Given the description of an element on the screen output the (x, y) to click on. 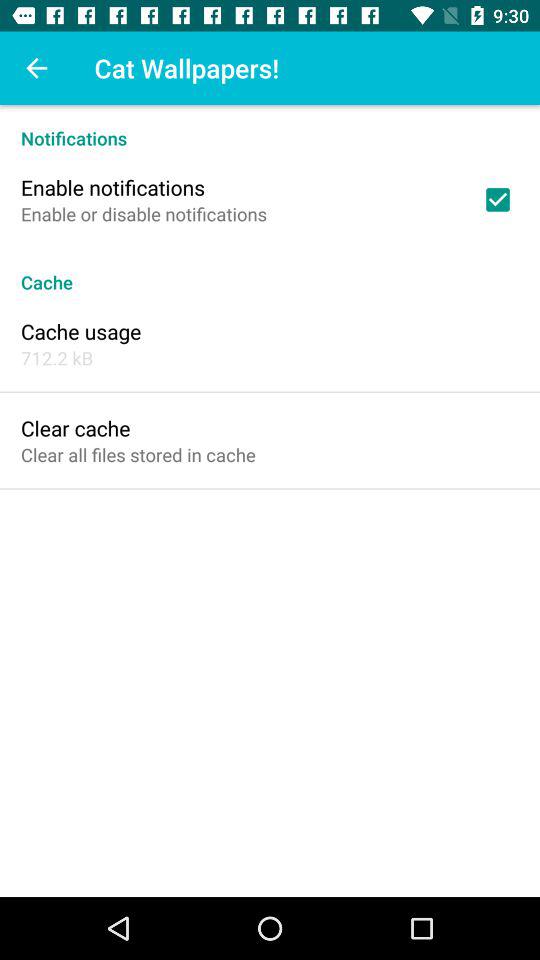
swipe to enable or disable item (143, 213)
